Given the description of an element on the screen output the (x, y) to click on. 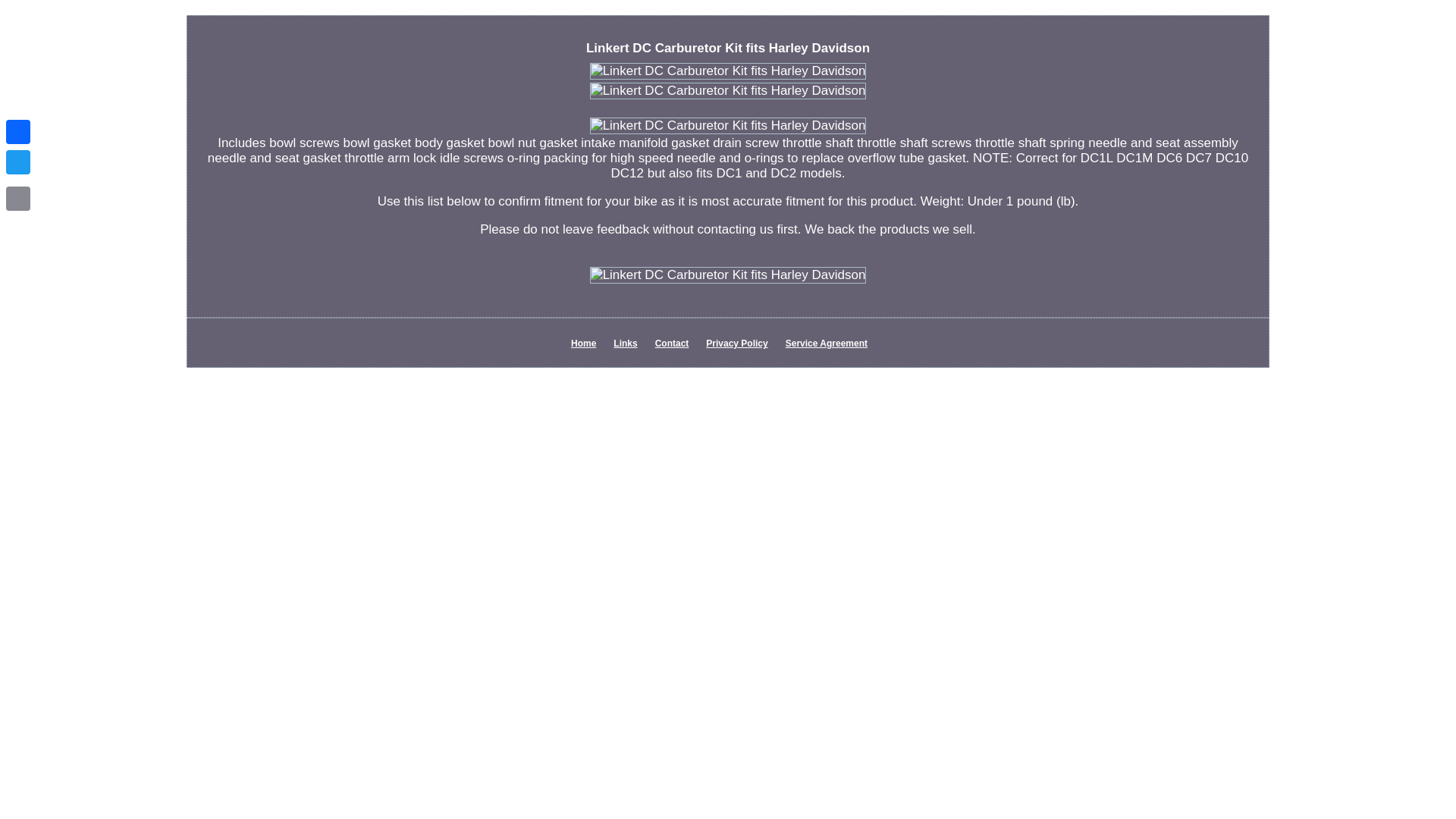
Linkert DC Carburetor Kit fits Harley Davidson (727, 274)
Service Agreement (826, 343)
Links (624, 343)
Privacy Policy (736, 343)
Contact (671, 343)
Linkert DC Carburetor Kit fits Harley Davidson (727, 90)
Facebook (17, 132)
Linkert DC Carburetor Kit fits Harley Davidson (727, 71)
Home (582, 343)
Linkert DC Carburetor Kit fits Harley Davidson (727, 125)
Twitter (17, 162)
Email (17, 198)
